Given the description of an element on the screen output the (x, y) to click on. 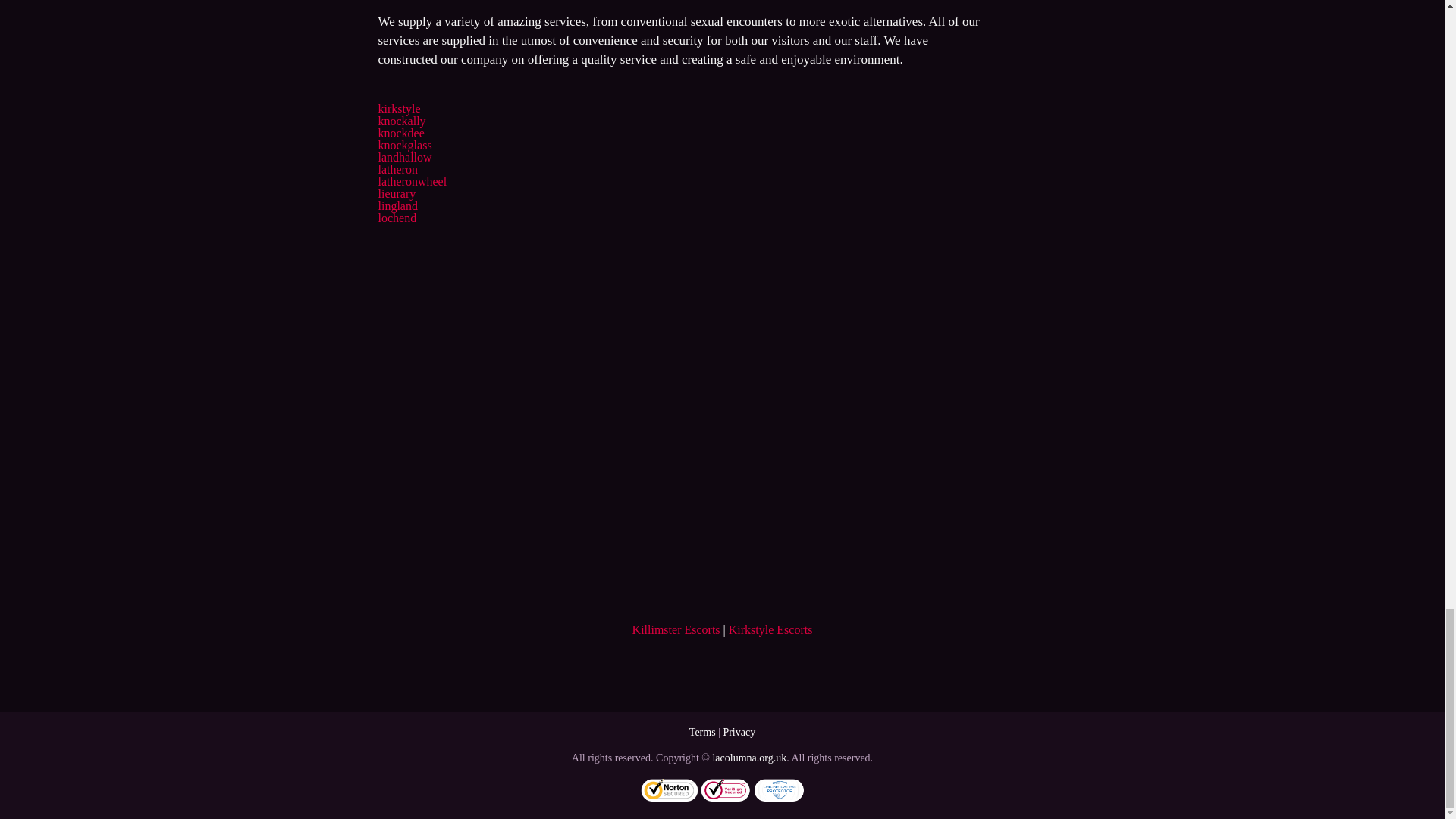
Killimster Escorts (675, 629)
lingland (396, 205)
knockally (401, 120)
Privacy (738, 731)
latheron (396, 169)
Terms (702, 731)
lieurary (395, 193)
knockdee (400, 132)
kirkstyle (398, 108)
knockglass (403, 144)
